Given the description of an element on the screen output the (x, y) to click on. 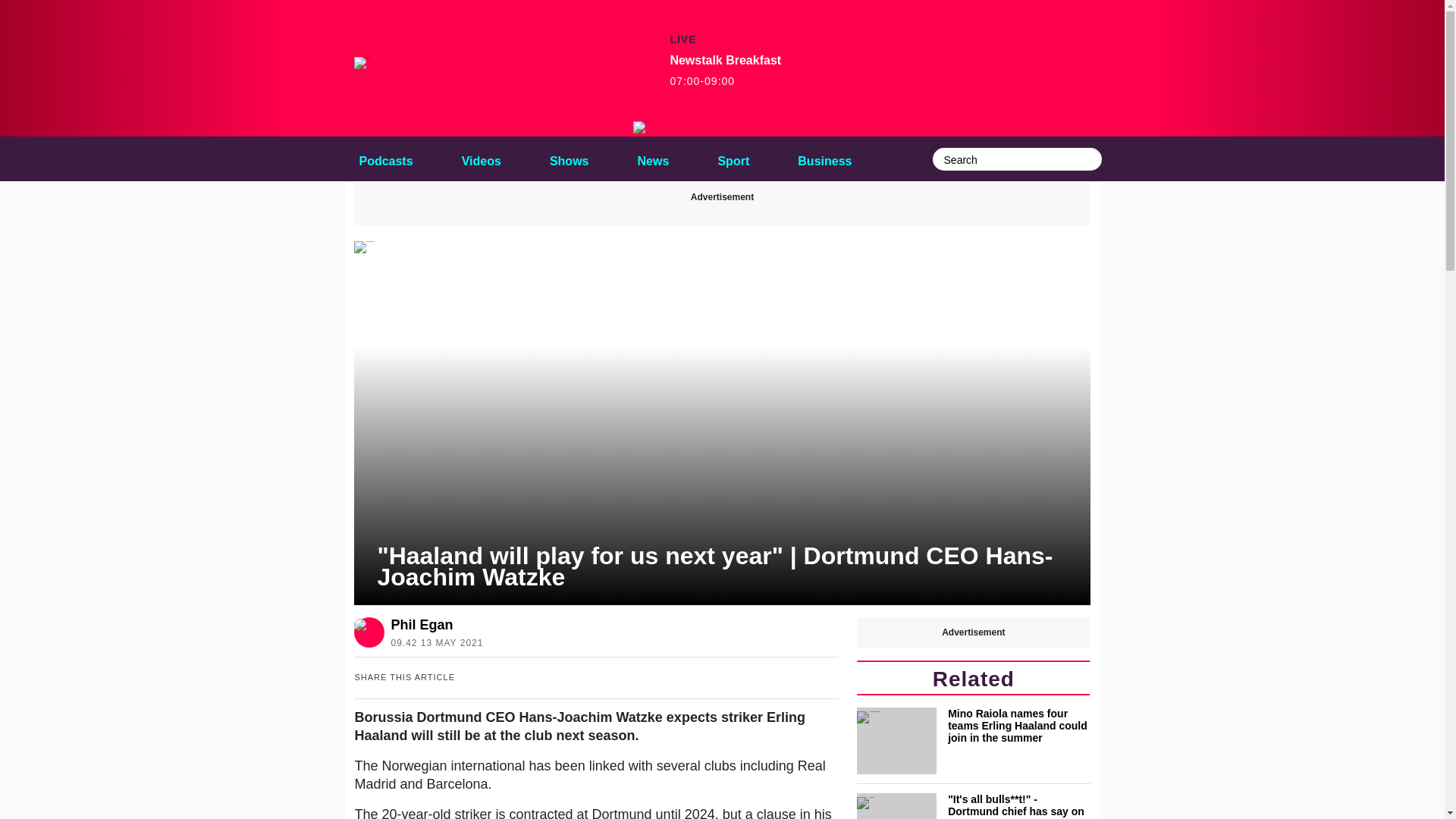
Business (824, 158)
Newstalk Breakfast (642, 127)
News (653, 158)
Sport (724, 70)
News (733, 158)
Shows (653, 158)
Business (569, 158)
Shows (824, 158)
Sport (569, 158)
